Given the description of an element on the screen output the (x, y) to click on. 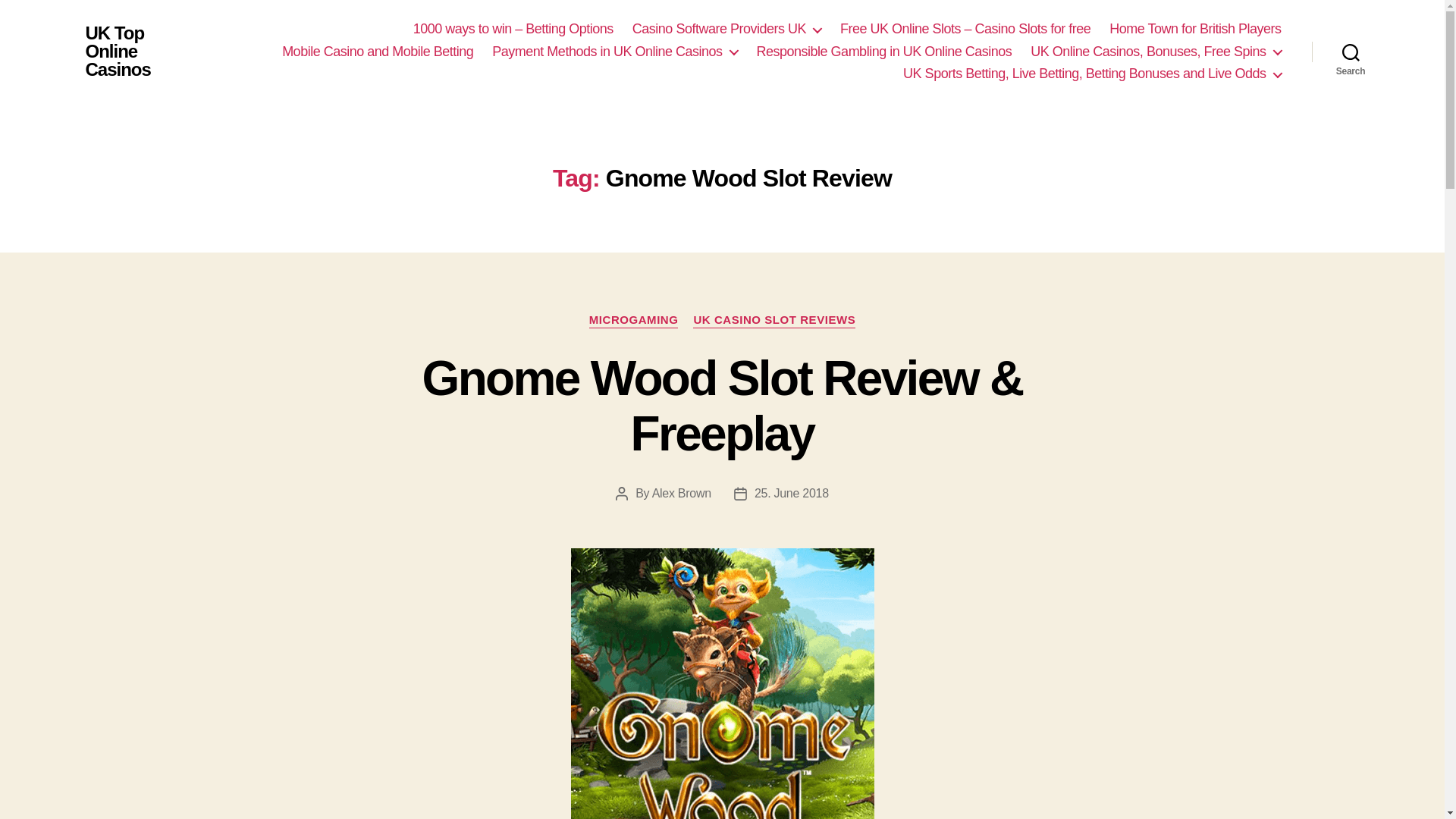
Responsible Gambling in UK Online Casinos (884, 52)
Mobile Casino and Mobile Betting (377, 52)
Payment Methods in UK Online Casinos (614, 52)
Casino Software Providers UK (726, 29)
Home Town for British Players (1195, 29)
UK Top Online Casinos (129, 51)
UK Online Casinos, Bonuses, Free Spins (1155, 52)
